Given the description of an element on the screen output the (x, y) to click on. 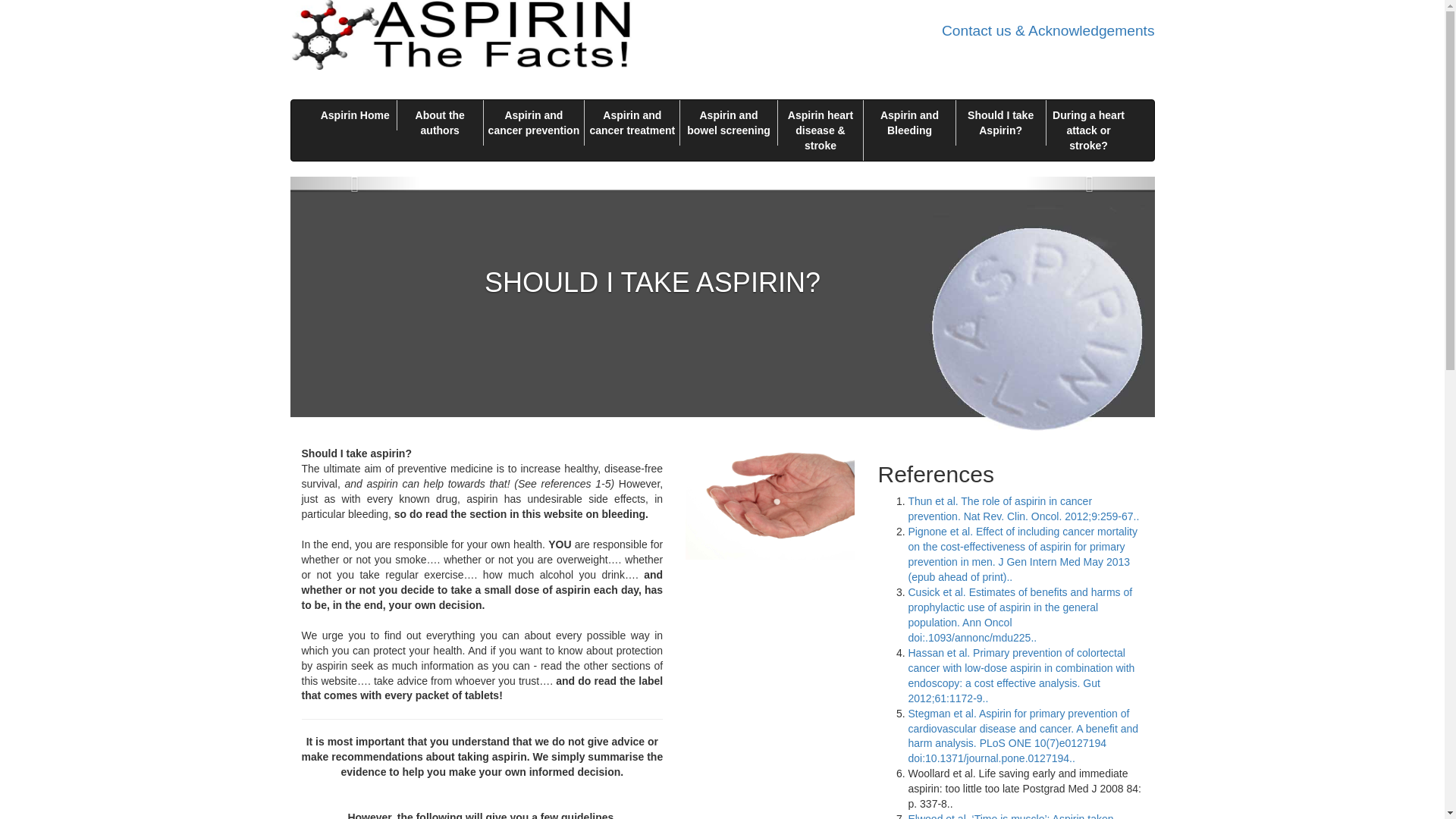
Next (1089, 183)
Aspirin and bowel screening (728, 122)
Should I take Aspirin? (1001, 122)
Aspirin Home (355, 114)
Aspirin and cancer prevention (534, 122)
During a heart attack or stroke? (1088, 129)
Previous (354, 183)
Aspirin and Bleeding (909, 122)
Aspirin and cancer treatment (632, 122)
About the authors (440, 122)
